Given the description of an element on the screen output the (x, y) to click on. 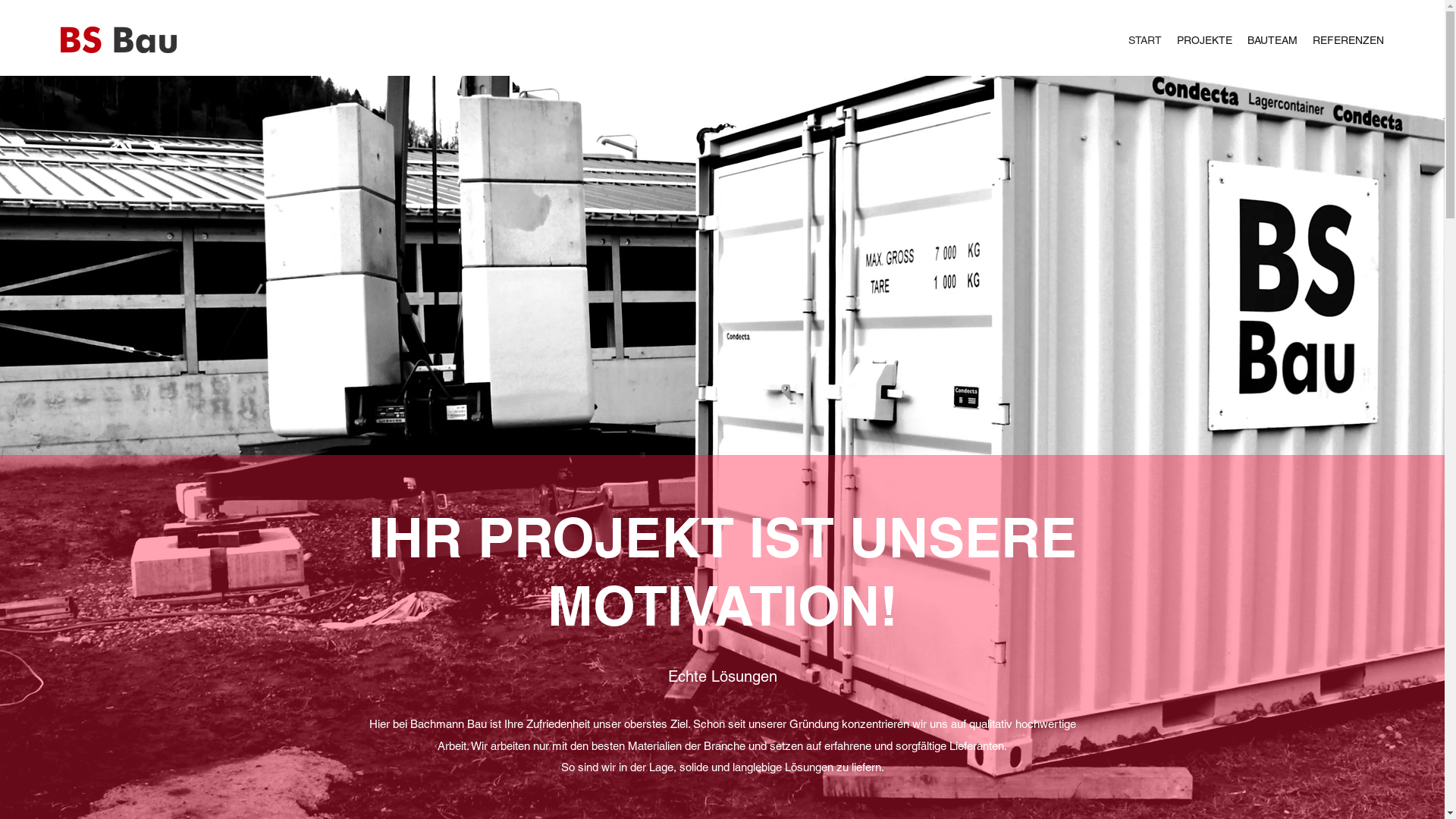
BAUTEAM Element type: text (1272, 39)
START Element type: text (1144, 39)
REFERENZEN Element type: text (1348, 39)
PROJEKTE Element type: text (1204, 39)
